Given the description of an element on the screen output the (x, y) to click on. 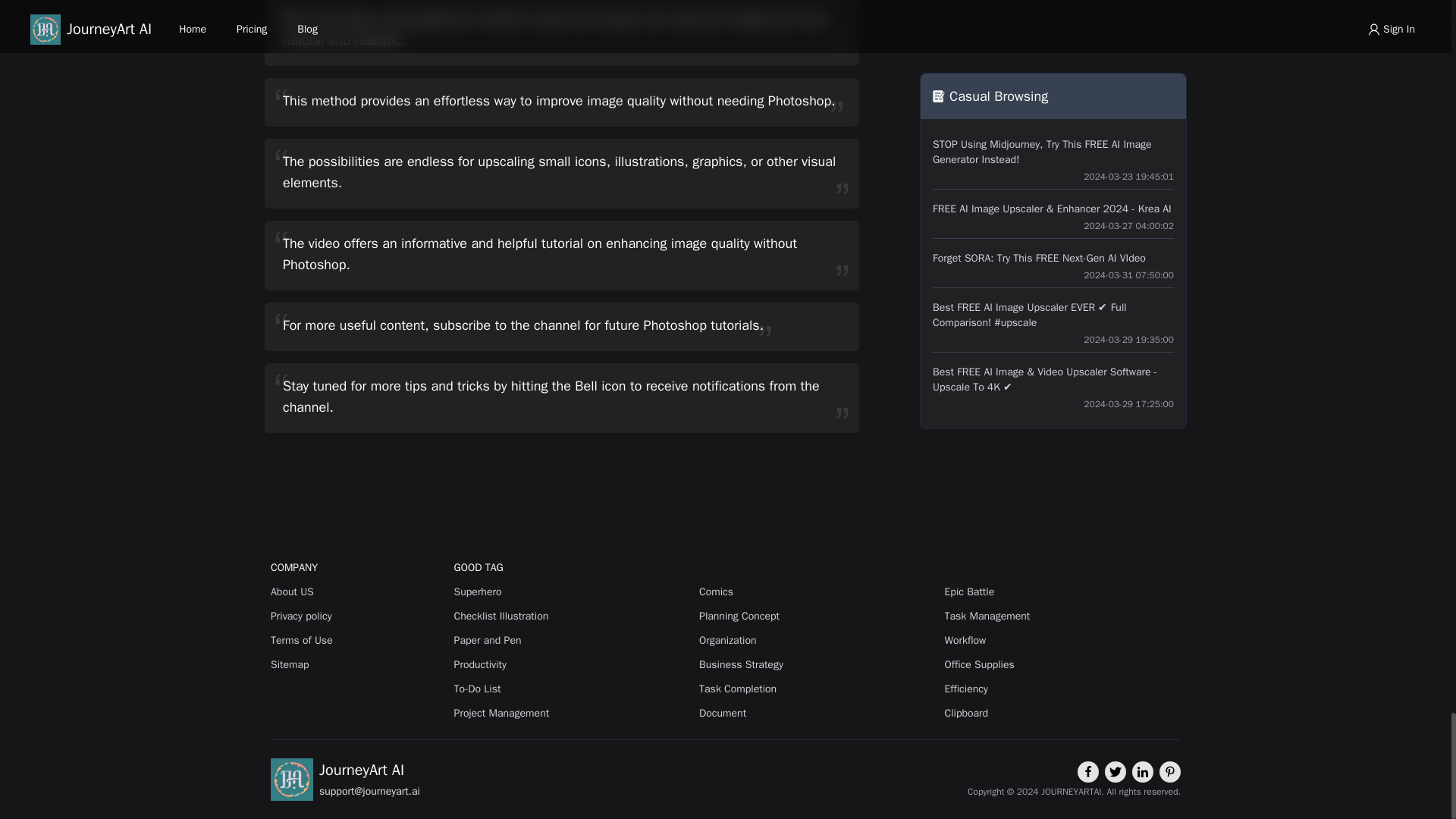
Comics (816, 591)
Organization (816, 640)
Terms of Use (359, 640)
Planning Concept (816, 616)
Sitemap (359, 664)
Paper and Pen (572, 640)
About US (359, 591)
Planning Concept (816, 616)
Productivity (572, 664)
Terms of Use (359, 640)
Organization (816, 640)
Business Strategy (816, 664)
Superhero (572, 591)
Privacy policy (359, 616)
Document (816, 713)
